Given the description of an element on the screen output the (x, y) to click on. 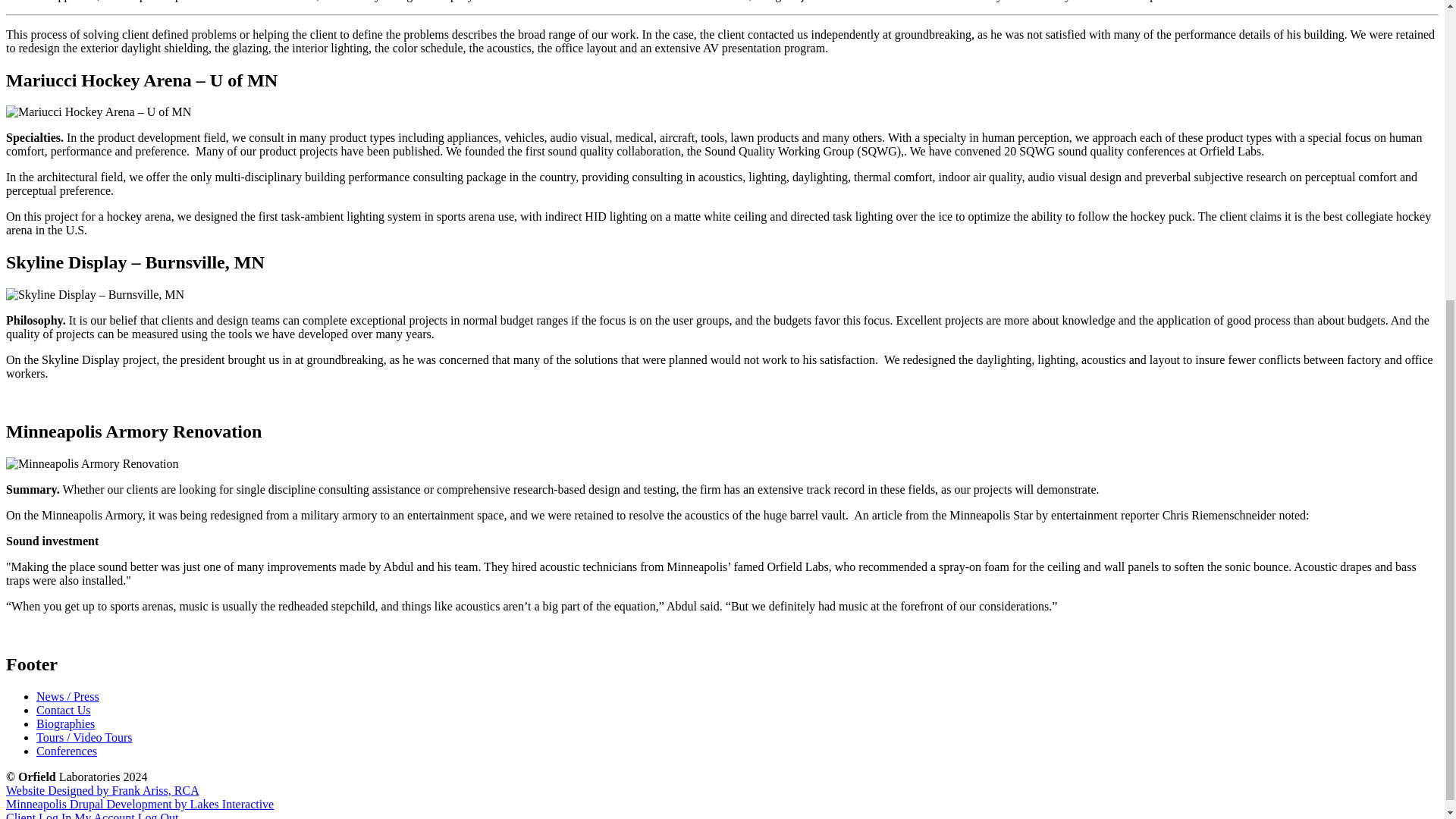
Website Designed by Frank Ariss, RCA (102, 789)
Minneapolis Armory Renovation (92, 463)
Conferences (66, 750)
Biographies (65, 723)
Contact Us (63, 709)
Minneapolis Drupal Development by Lakes Interactive (139, 803)
